Given the description of an element on the screen output the (x, y) to click on. 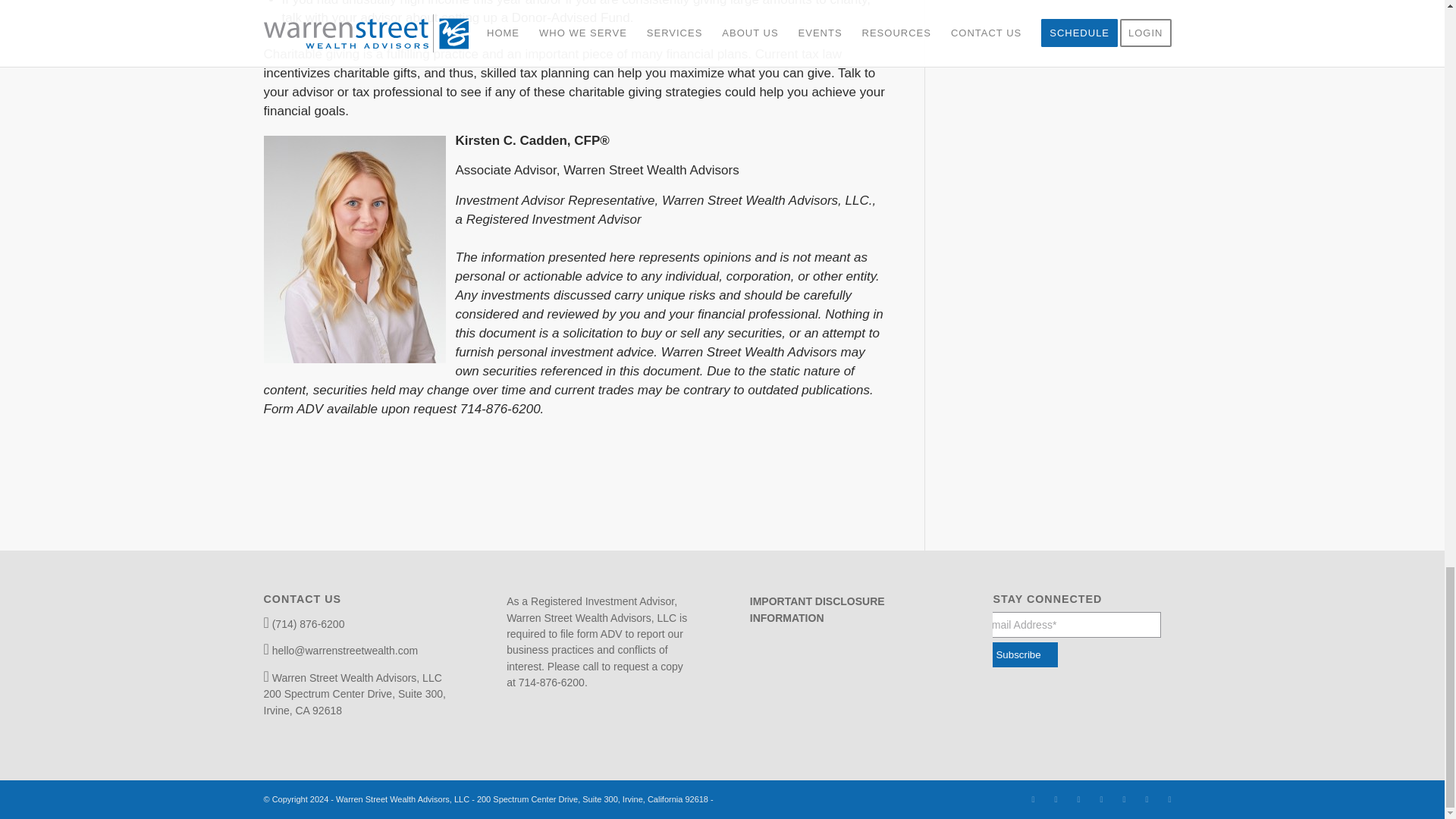
LinkedIn (1078, 798)
Instagram (1056, 798)
Twitter (1146, 798)
Yelp (1124, 798)
Facebook (1033, 798)
Subscribe (1017, 654)
Youtube (1101, 798)
